Given the description of an element on the screen output the (x, y) to click on. 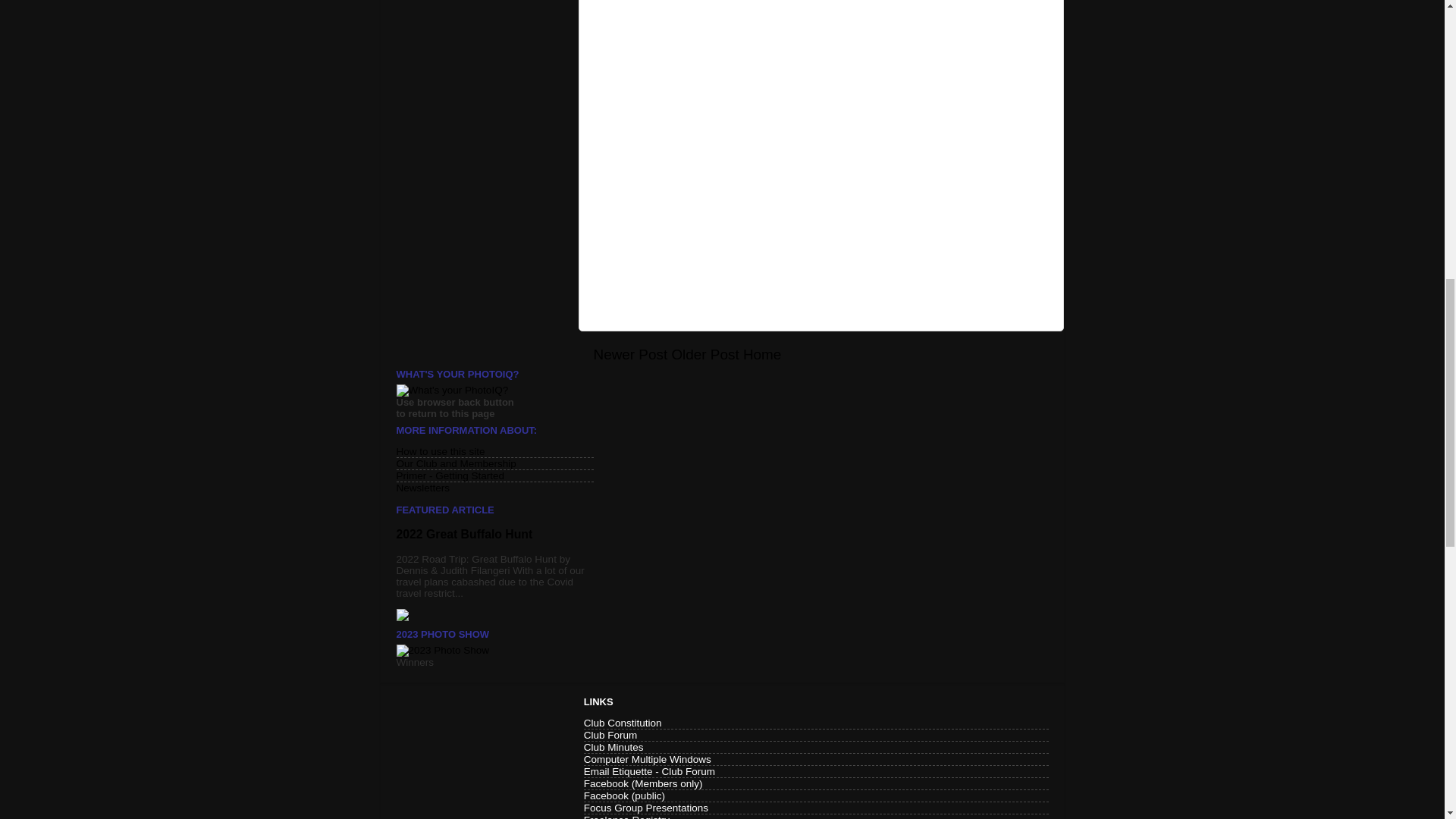
2022 Great Buffalo Hunt (464, 533)
Newsletters (422, 487)
Older Post (704, 354)
MORE INFORMATION ABOUT: (466, 430)
Primer - Getting Started (449, 475)
Newer Post (629, 354)
Home (761, 354)
Our Club and Membership (455, 463)
How to use this site (440, 451)
Older Post (704, 354)
Newer Post (629, 354)
